Given the description of an element on the screen output the (x, y) to click on. 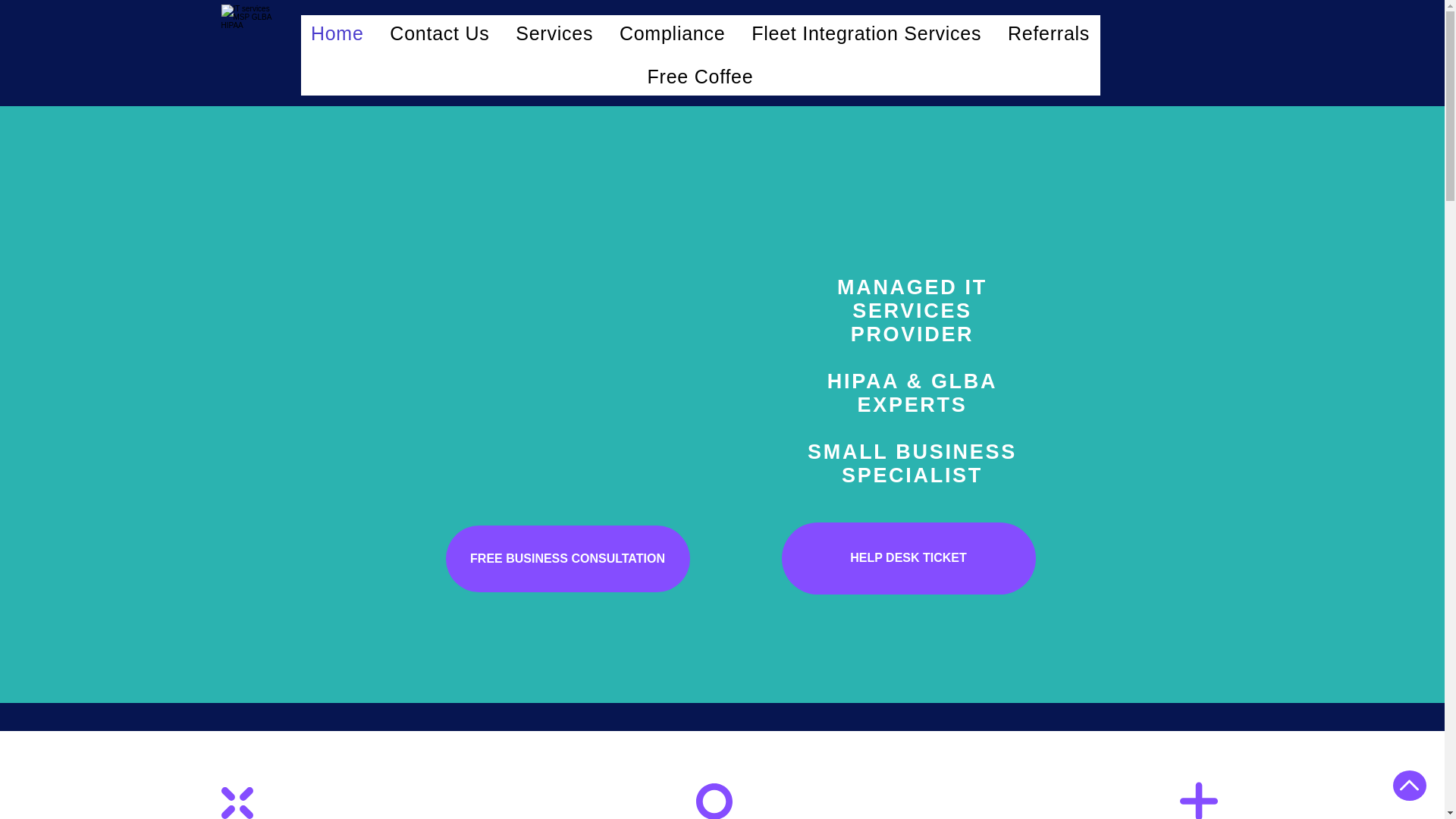
IT Managed Services (246, 29)
Free Coffee (699, 76)
FREE BUSINESS CONSULTATION (567, 558)
Referrals (1048, 33)
HELP DESK TICKET (907, 558)
Contact Us (439, 33)
Services (554, 33)
Compliance (672, 33)
Fleet Integration Services (866, 33)
Home (335, 33)
